Given the description of an element on the screen output the (x, y) to click on. 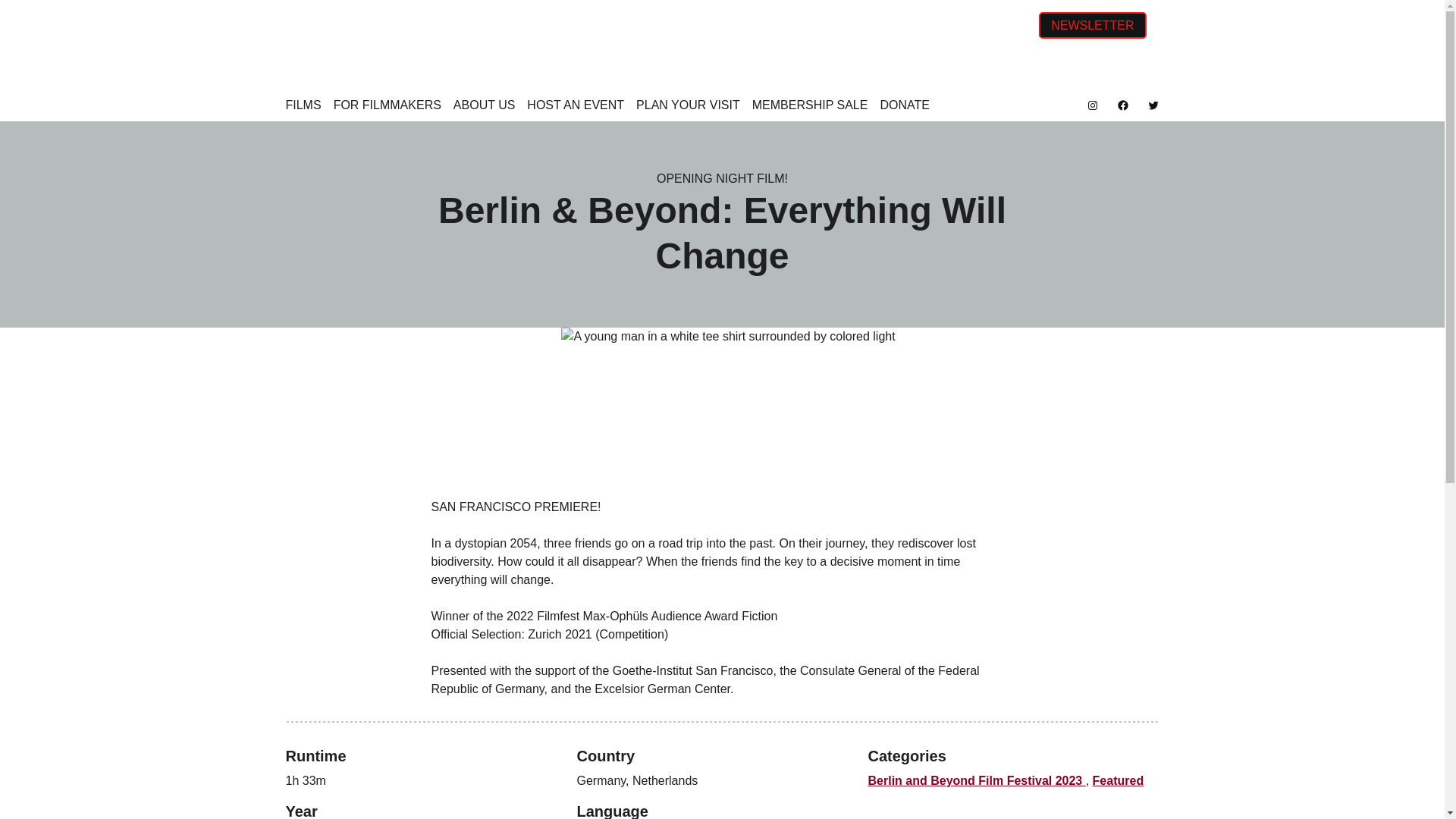
NEWSLETTER (1092, 25)
HOST AN EVENT (575, 107)
FOR FILMMAKERS (387, 107)
PLAN YOUR VISIT (687, 107)
FILMS (302, 107)
ABOUT US (483, 107)
